Given the description of an element on the screen output the (x, y) to click on. 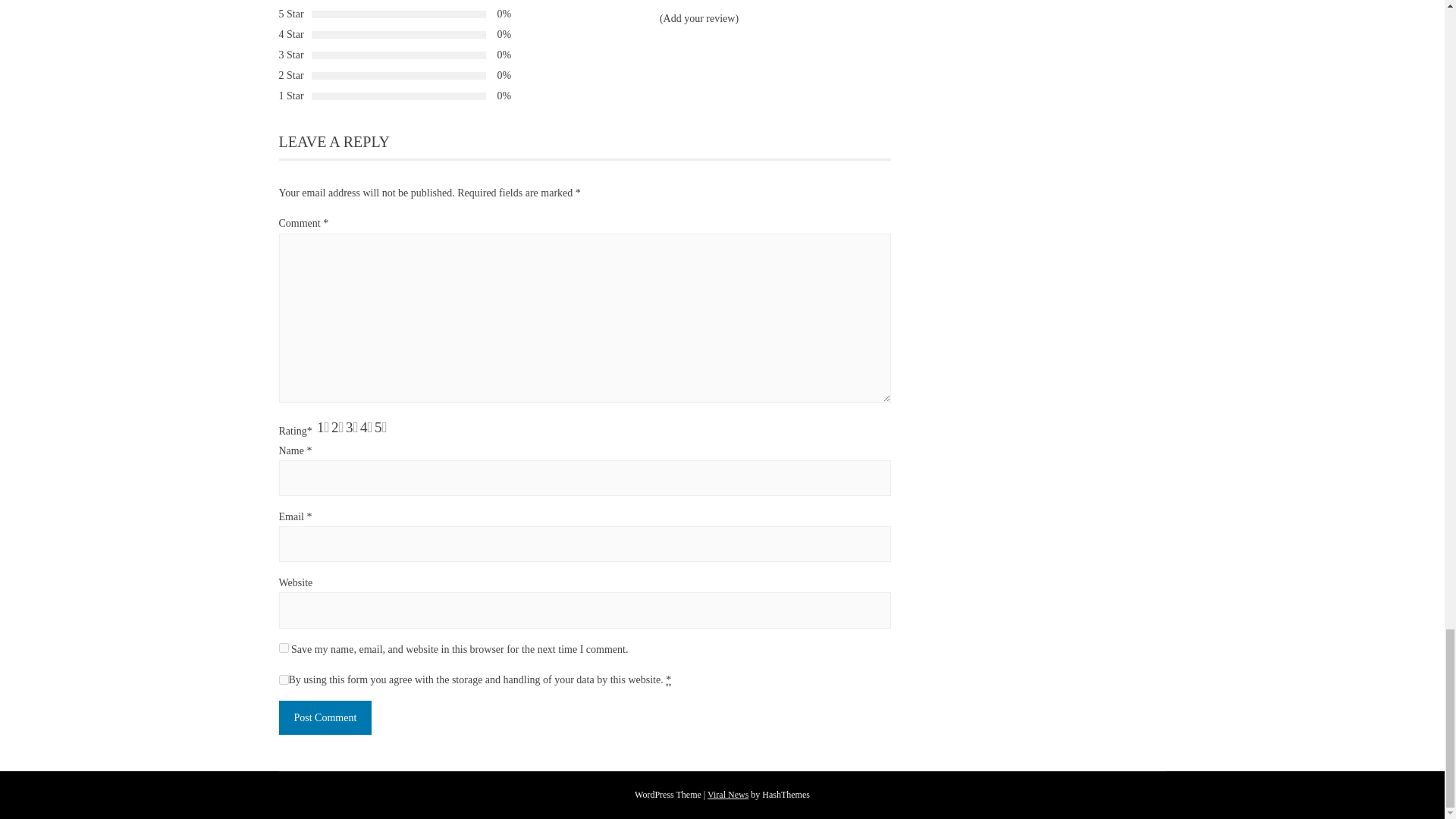
yes (283, 647)
Download Viral News (727, 794)
Post Comment (325, 717)
